Given the description of an element on the screen output the (x, y) to click on. 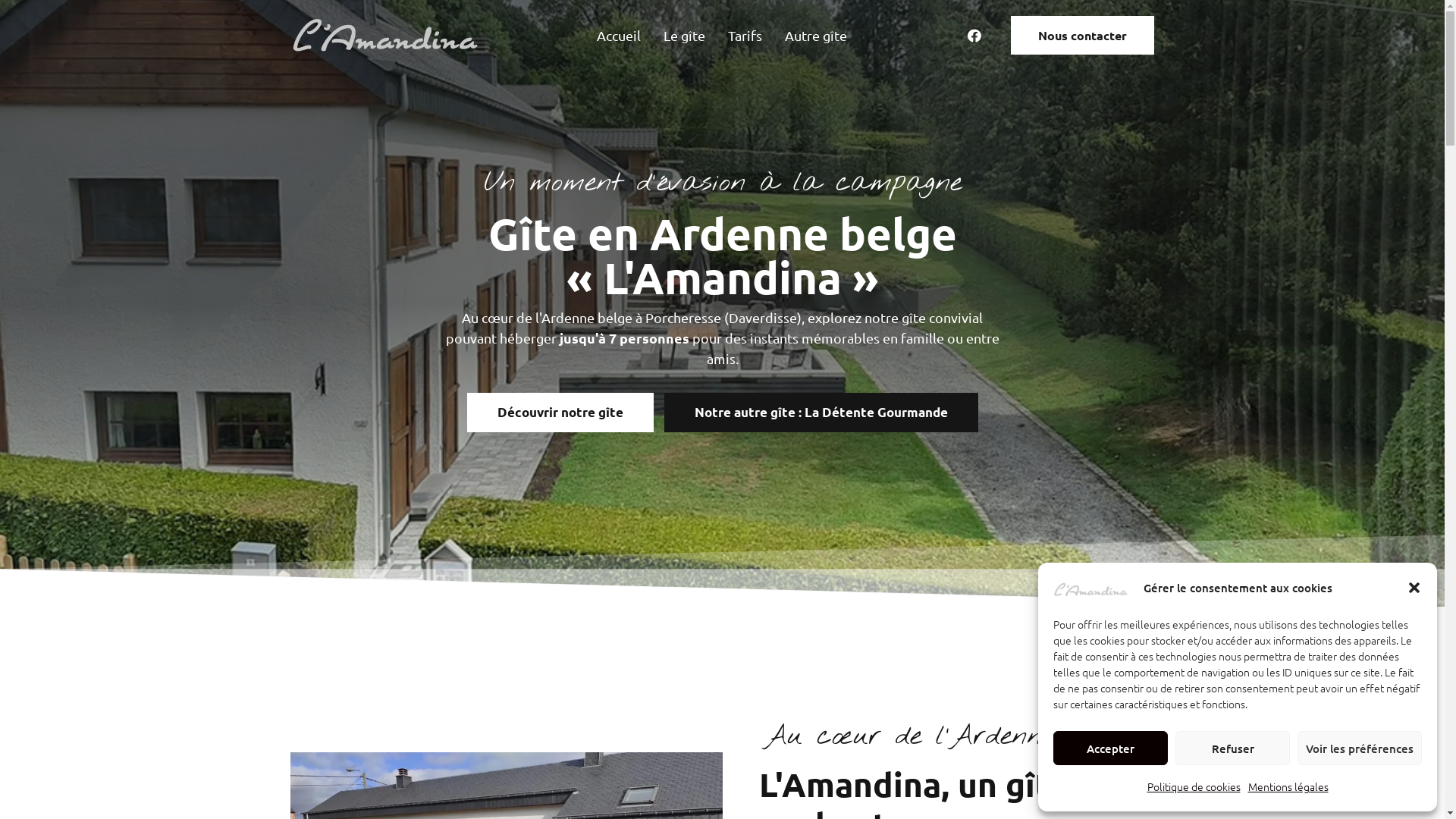
Politique de cookies Element type: text (1192, 786)
Accepter Element type: text (1110, 748)
Refuser Element type: text (1232, 748)
Nous contacter Element type: text (1082, 34)
Accueil Element type: text (618, 35)
Tarifs Element type: text (744, 35)
